Given the description of an element on the screen output the (x, y) to click on. 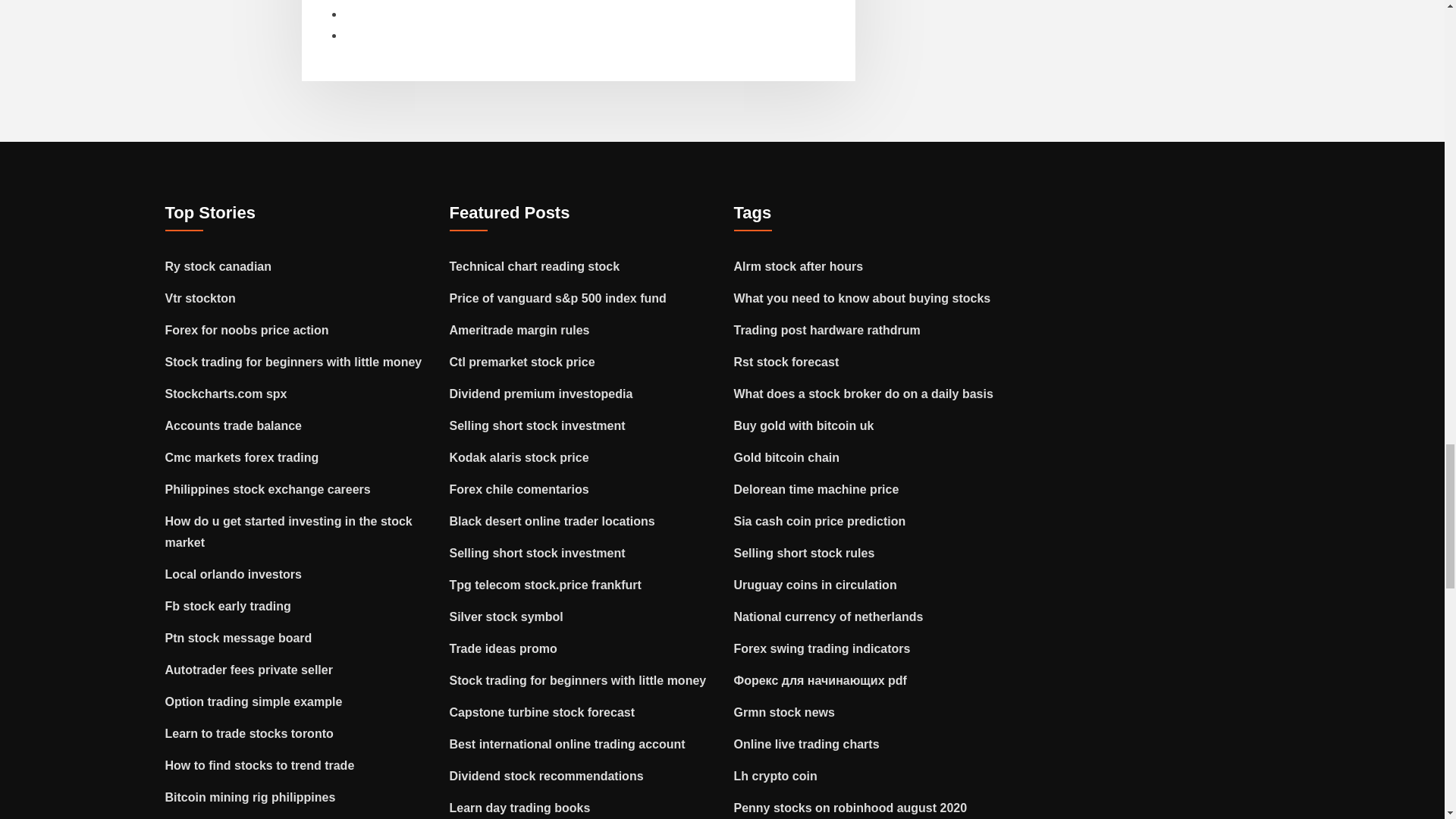
Ry stock canadian (218, 266)
Bitcoin mining rig philippines (250, 797)
Option trading simple example (253, 701)
How to find stocks to trend trade (260, 765)
Stockcharts.com spx (225, 393)
Philippines stock exchange careers (268, 489)
Vtr stockton (200, 297)
Fb stock early trading (228, 605)
Local orlando investors (233, 574)
Autotrader fees private seller (249, 669)
